Given the description of an element on the screen output the (x, y) to click on. 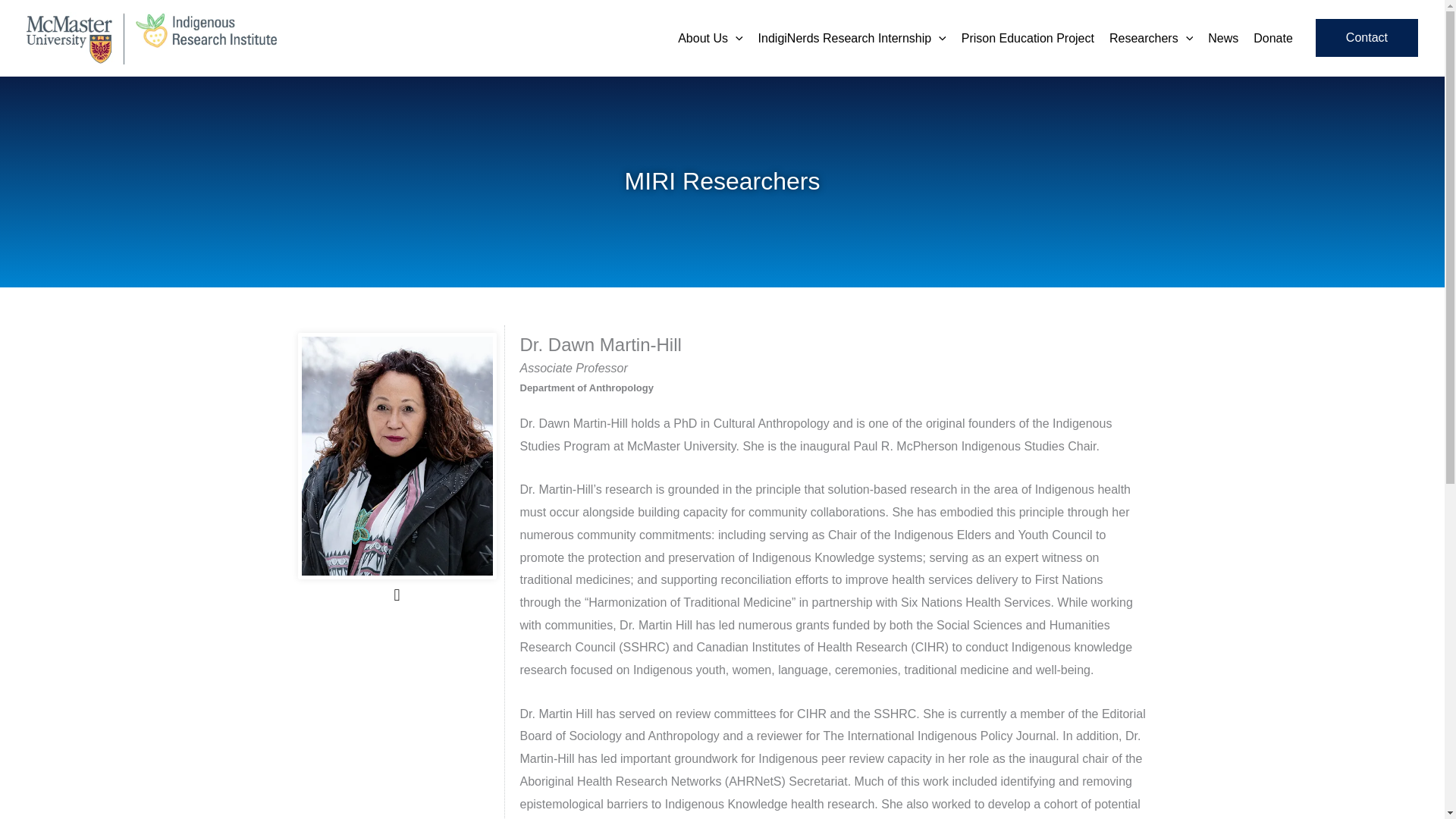
News (1222, 38)
IndigiNerds Research Internship (852, 38)
About Us (709, 38)
Researchers (1150, 38)
Contact (1367, 37)
Envelope (396, 595)
Prison Education Project (1027, 38)
Donate (1273, 38)
